Given the description of an element on the screen output the (x, y) to click on. 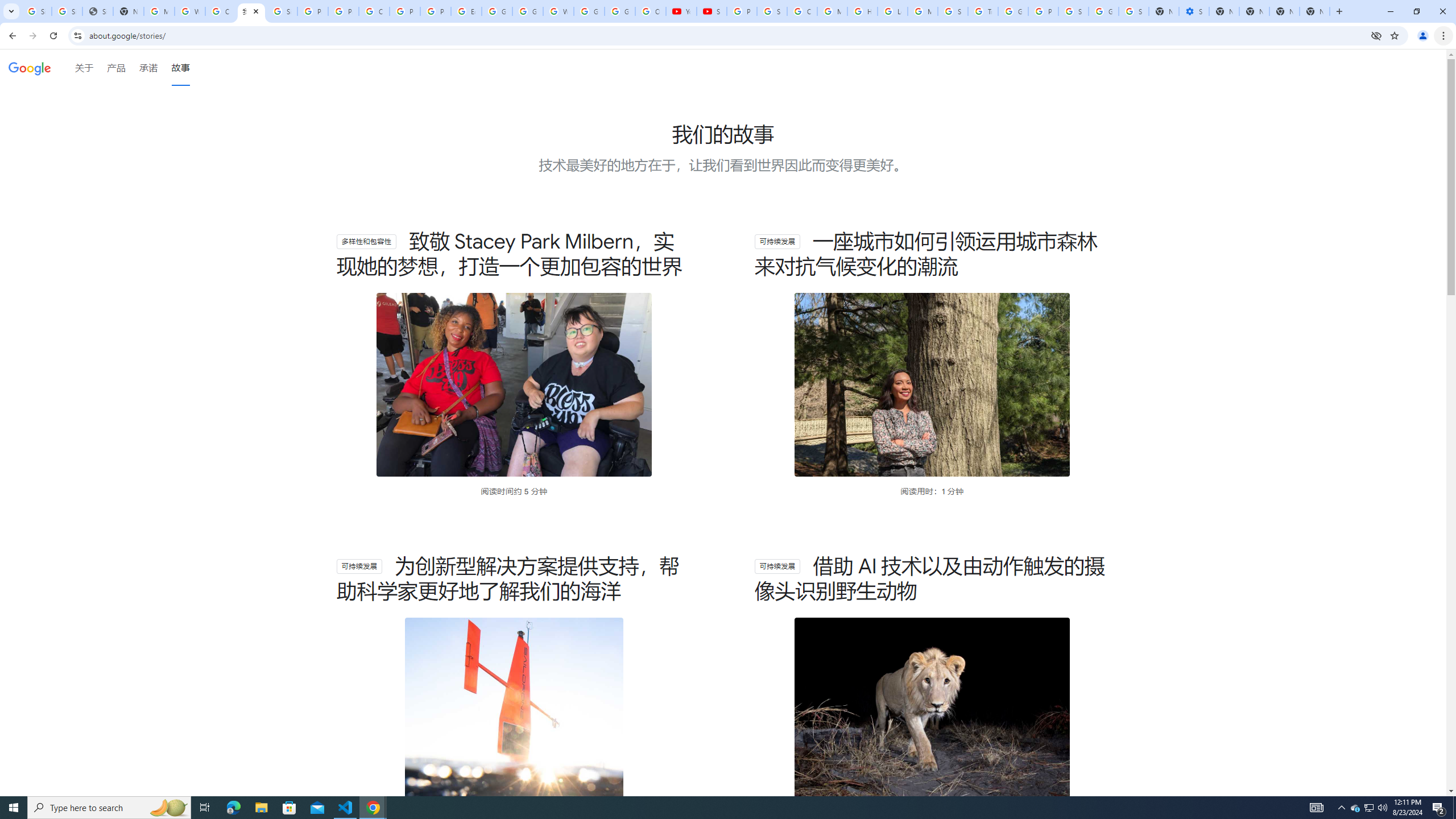
Google Account (619, 11)
Who is my administrator? - Google Account Help (189, 11)
Trusted Information and Content - Google Safety Center (982, 11)
Create your Google Account (373, 11)
